Given the description of an element on the screen output the (x, y) to click on. 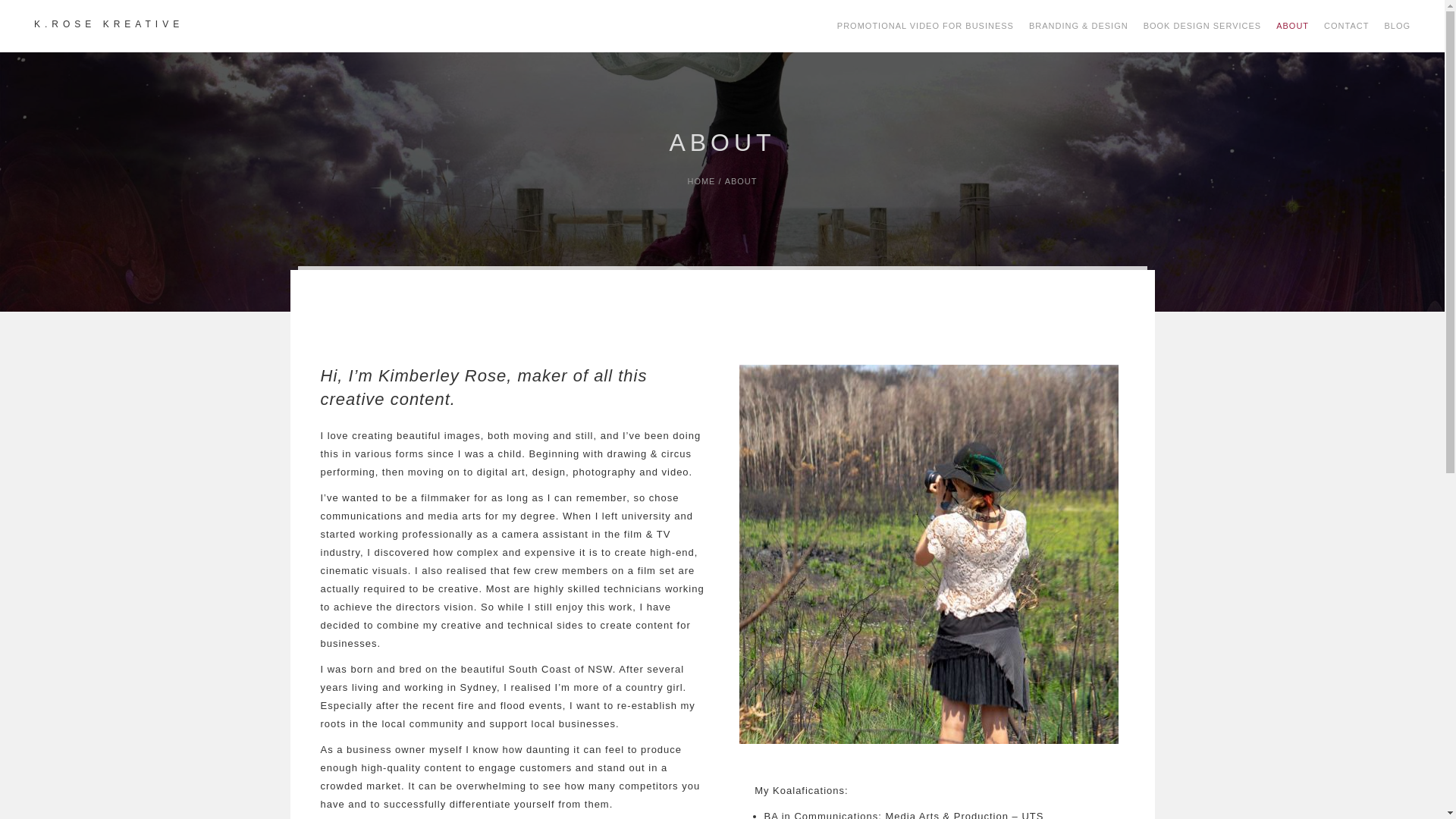
Aboutmeimg Element type: hover (928, 553)
BRANDING & DESIGN Element type: text (1078, 26)
ABOUT Element type: text (1292, 26)
BOOK DESIGN SERVICES Element type: text (1202, 26)
PROMOTIONAL VIDEO FOR BUSINESS Element type: text (925, 26)
K.ROSE KREATIVE Element type: text (108, 23)
CONTACT Element type: text (1346, 26)
BLOG Element type: text (1396, 26)
HOME Element type: text (701, 180)
